Given the description of an element on the screen output the (x, y) to click on. 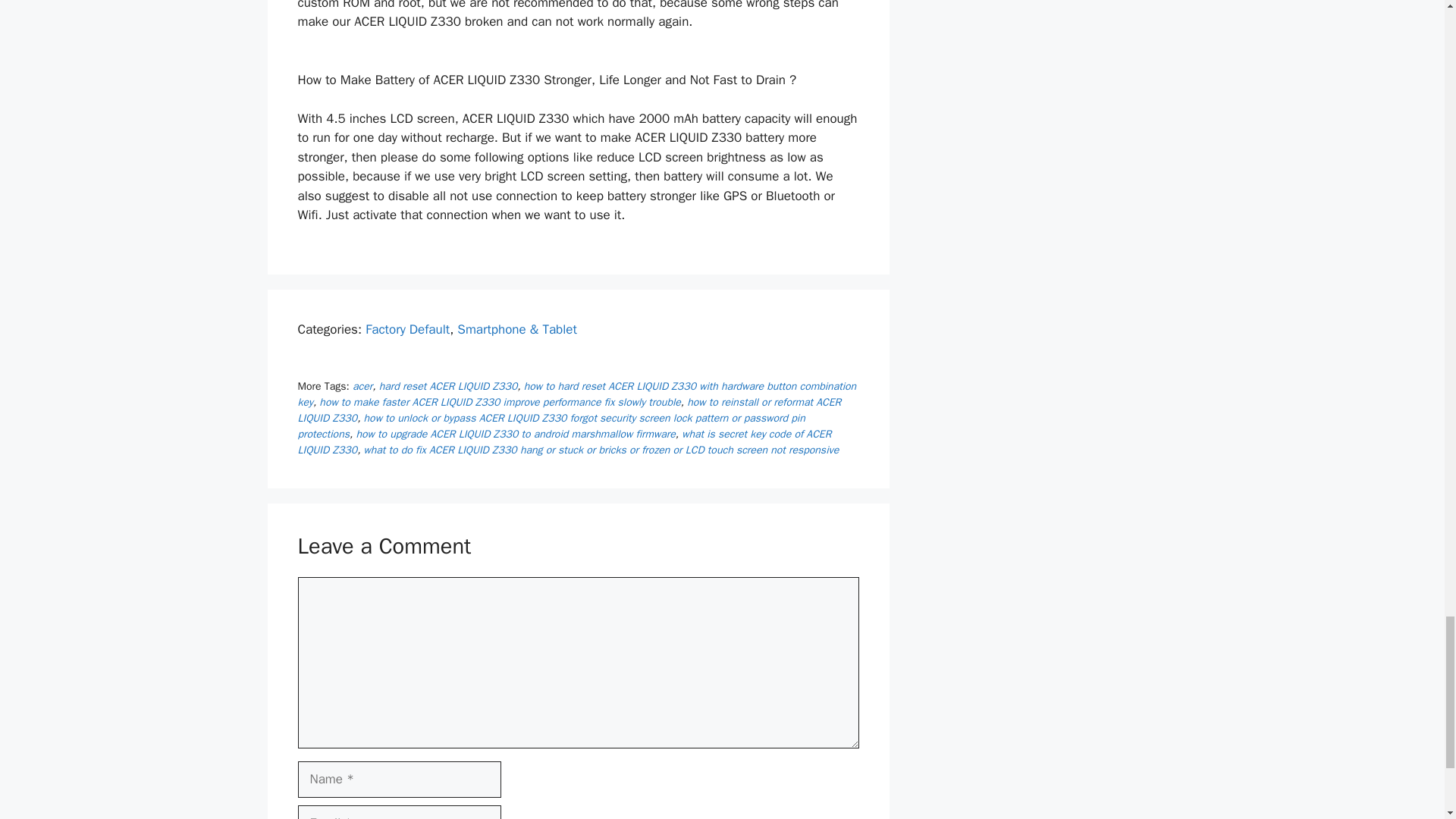
hard reset ACER LIQUID Z330 (448, 386)
what is secret key code of ACER LIQUID Z330 (564, 441)
Factory Default (407, 329)
how to reinstall or reformat ACER LIQUID Z330 (569, 410)
acer (362, 386)
